Given the description of an element on the screen output the (x, y) to click on. 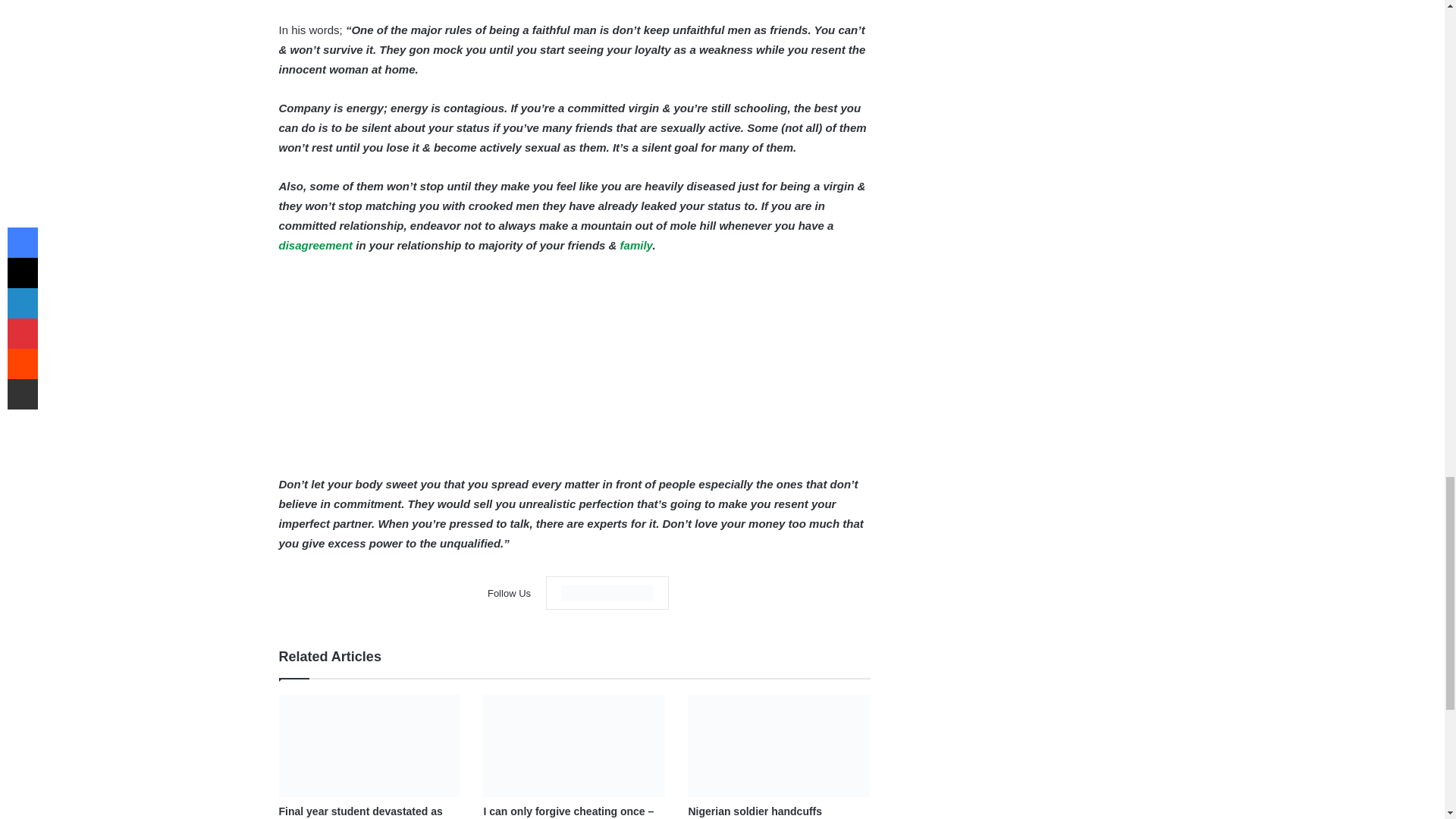
family (636, 244)
disagreement (316, 244)
